Given the description of an element on the screen output the (x, y) to click on. 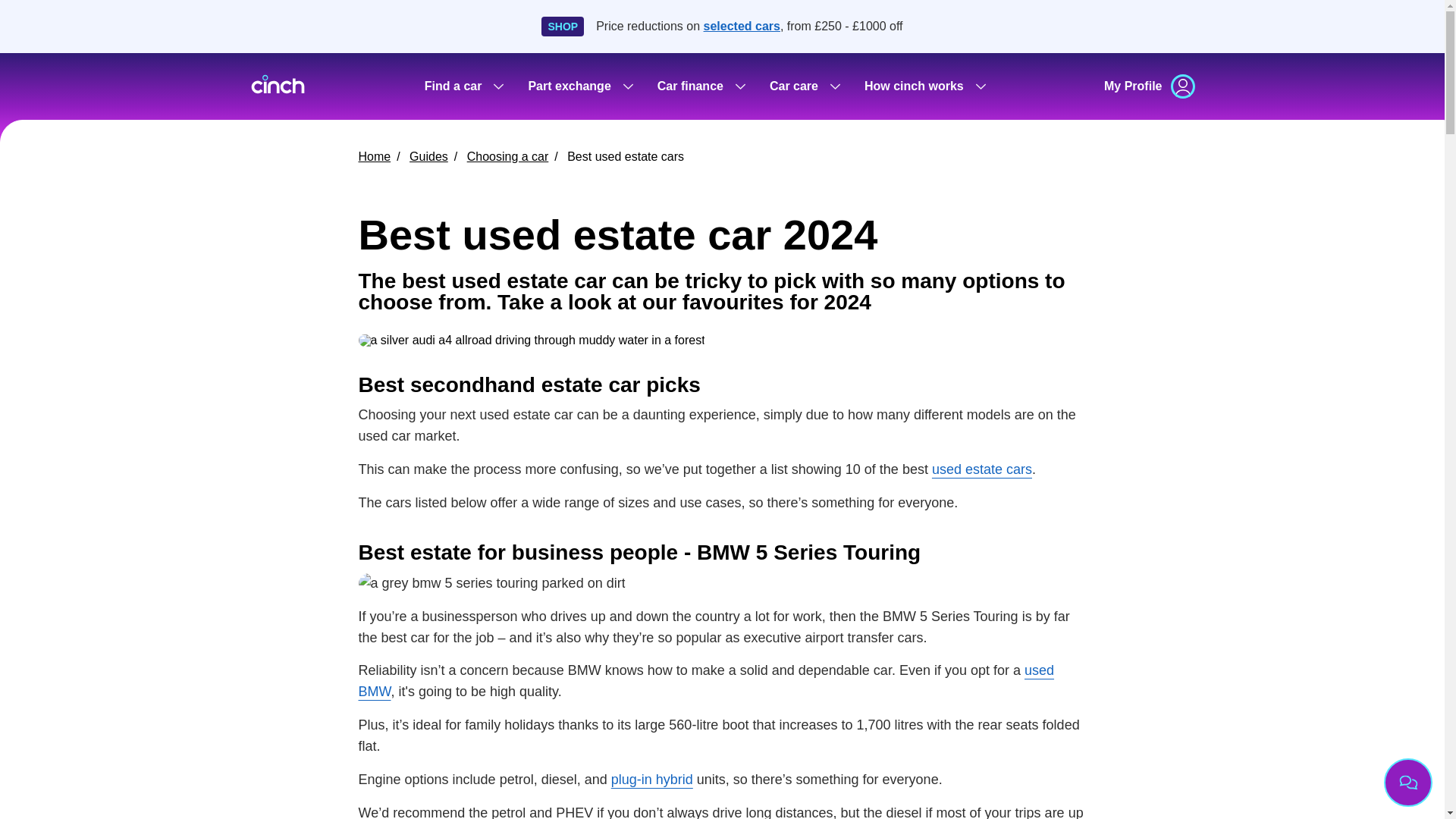
Part exchange (580, 86)
used estate cars (981, 468)
Car finance (701, 86)
How cinch works (924, 86)
selected cars (741, 25)
Find a car (464, 86)
plug-in hybrid (652, 779)
My Profile (1149, 86)
Choosing a car (507, 155)
Guides (428, 155)
used BMW (706, 680)
Home (374, 155)
Car care (804, 86)
